Given the description of an element on the screen output the (x, y) to click on. 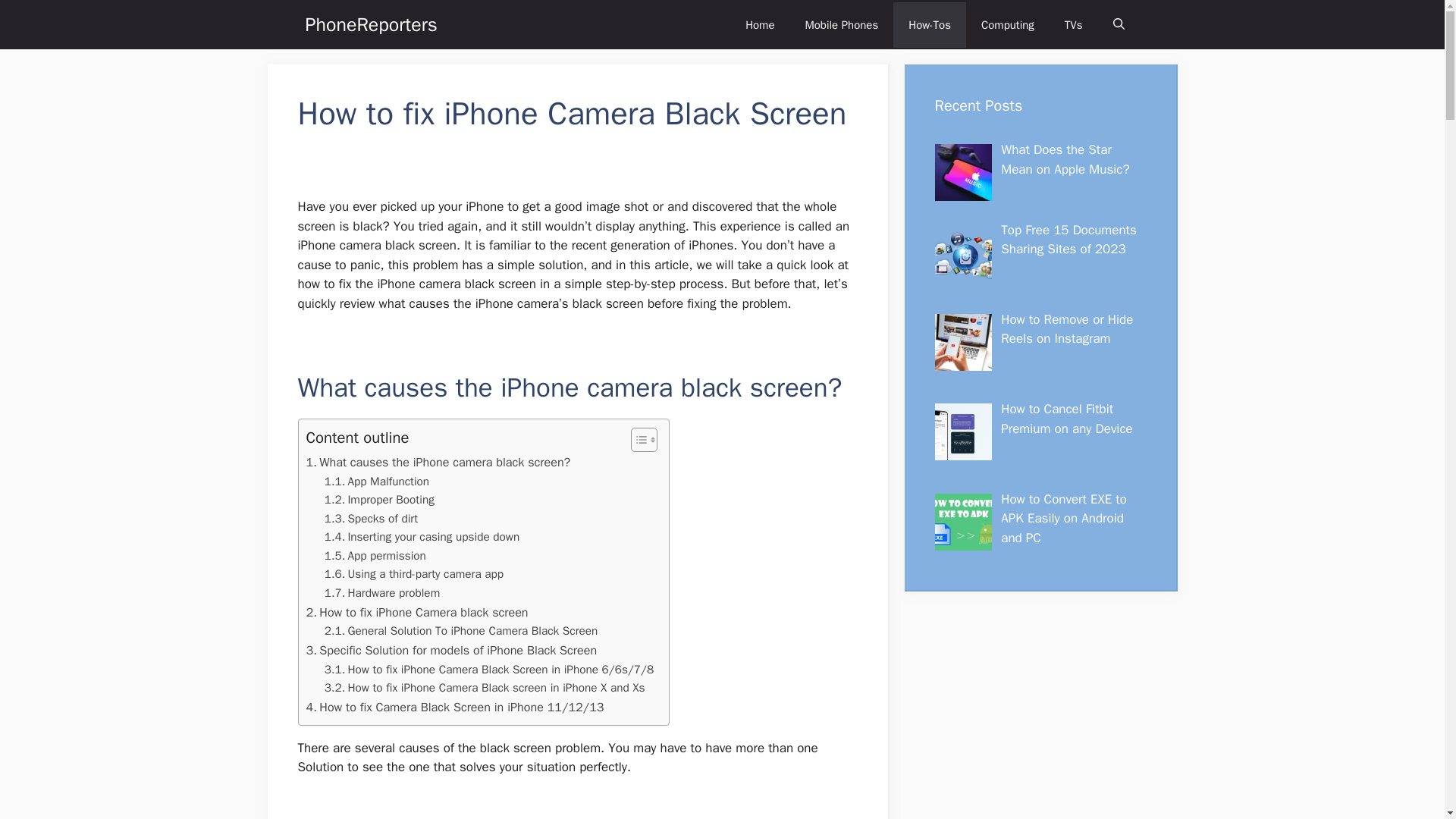
How to Cancel Fitbit Premium on any Device (1066, 418)
App Malfunction (376, 481)
App permission (375, 556)
Mobile Phones (841, 23)
Hardware problem (381, 592)
Specific Solution for models of iPhone Black Screen (450, 650)
How-Tos (929, 23)
How to Convert EXE to APK Easily on Android and PC (1063, 518)
PhoneReporters (370, 24)
Using a third-party camera app (413, 574)
Specific Solution for models of iPhone Black Screen (450, 650)
App permission (375, 556)
How to fix iPhone Camera Black screen in iPhone X and Xs (484, 687)
TVs (1073, 23)
How to fix iPhone Camera Black screen in iPhone X and Xs (484, 687)
